Given the description of an element on the screen output the (x, y) to click on. 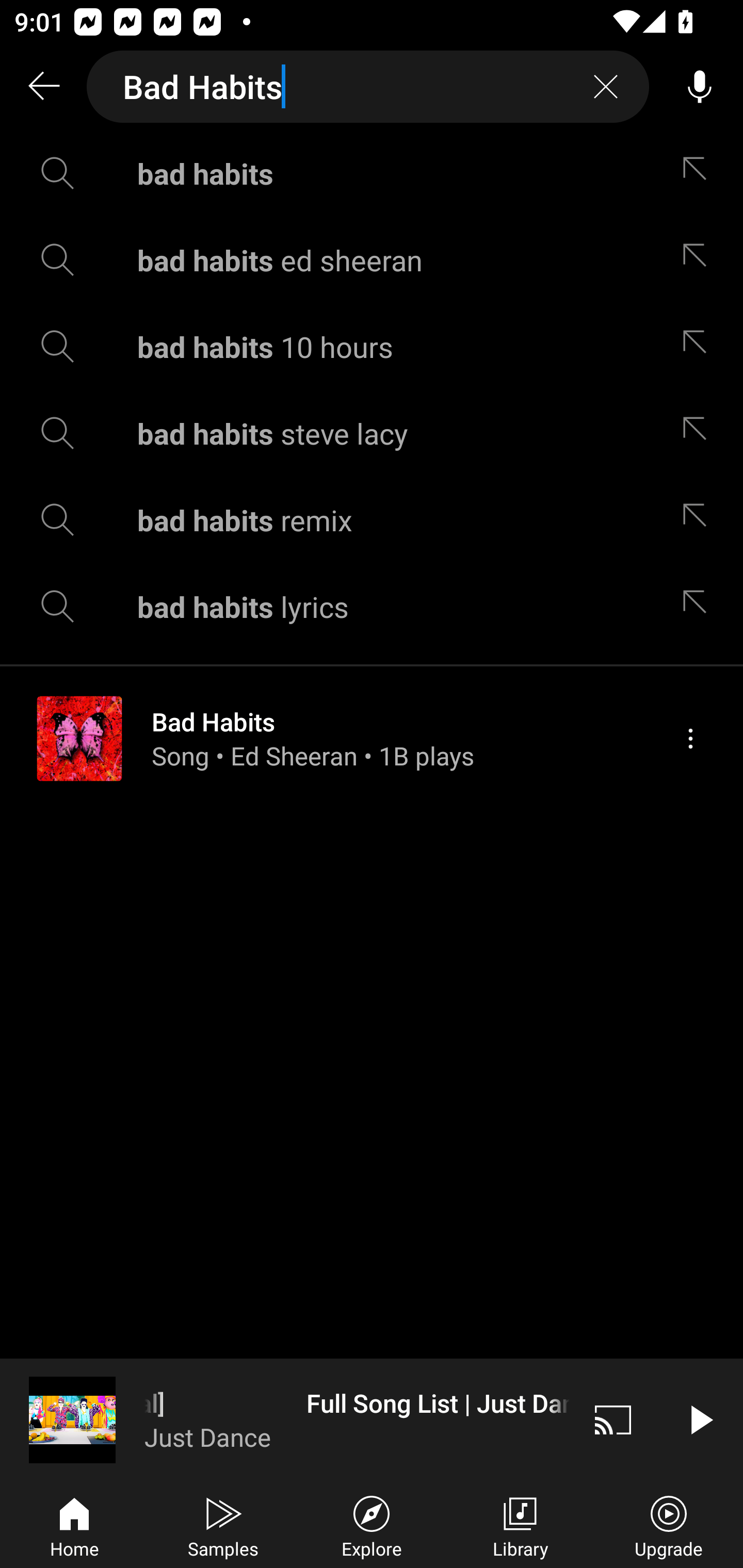
Search back (43, 86)
Bad Habits (367, 86)
Clear search (605, 86)
Voice search (699, 86)
bad habits Edit suggestion bad habits (371, 173)
Edit suggestion bad habits (699, 173)
Edit suggestion bad habits ed sheeran (699, 259)
Edit suggestion bad habits 10 hours (699, 346)
Edit suggestion bad habits steve lacy (699, 433)
bad habits remix Edit suggestion bad habits remix (371, 519)
Edit suggestion bad habits remix (699, 519)
Edit suggestion bad habits lyrics (699, 605)
Menu (690, 738)
Cast. Disconnected (612, 1419)
Play video (699, 1419)
Home (74, 1524)
Samples (222, 1524)
Explore (371, 1524)
Library (519, 1524)
Upgrade (668, 1524)
